Given the description of an element on the screen output the (x, y) to click on. 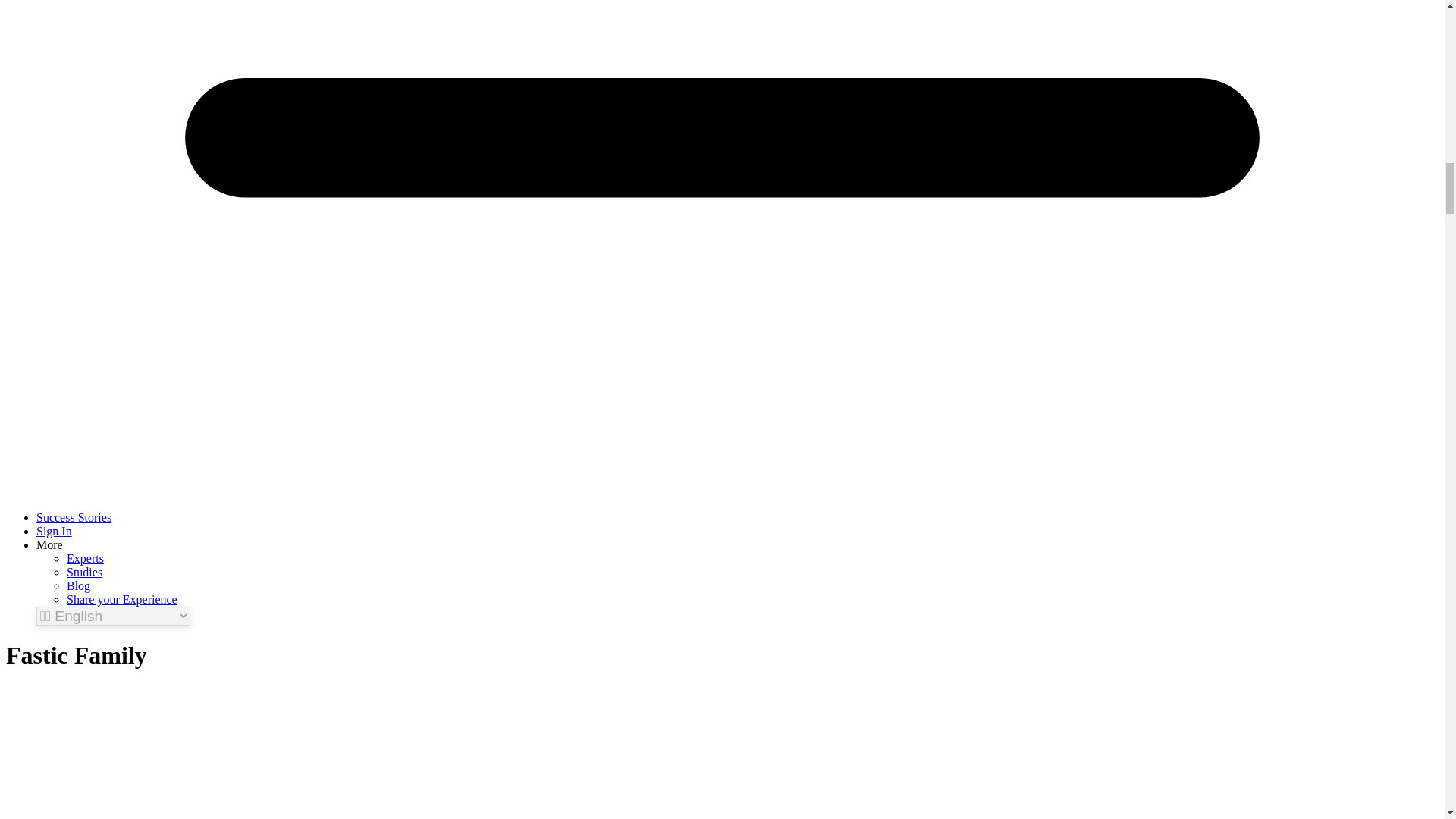
Blog (78, 585)
Experts (84, 558)
Share your Experience (121, 599)
YouTube video player (118, 743)
Studies (83, 571)
Sign In (53, 530)
Success Stories (74, 517)
More (49, 544)
